Given the description of an element on the screen output the (x, y) to click on. 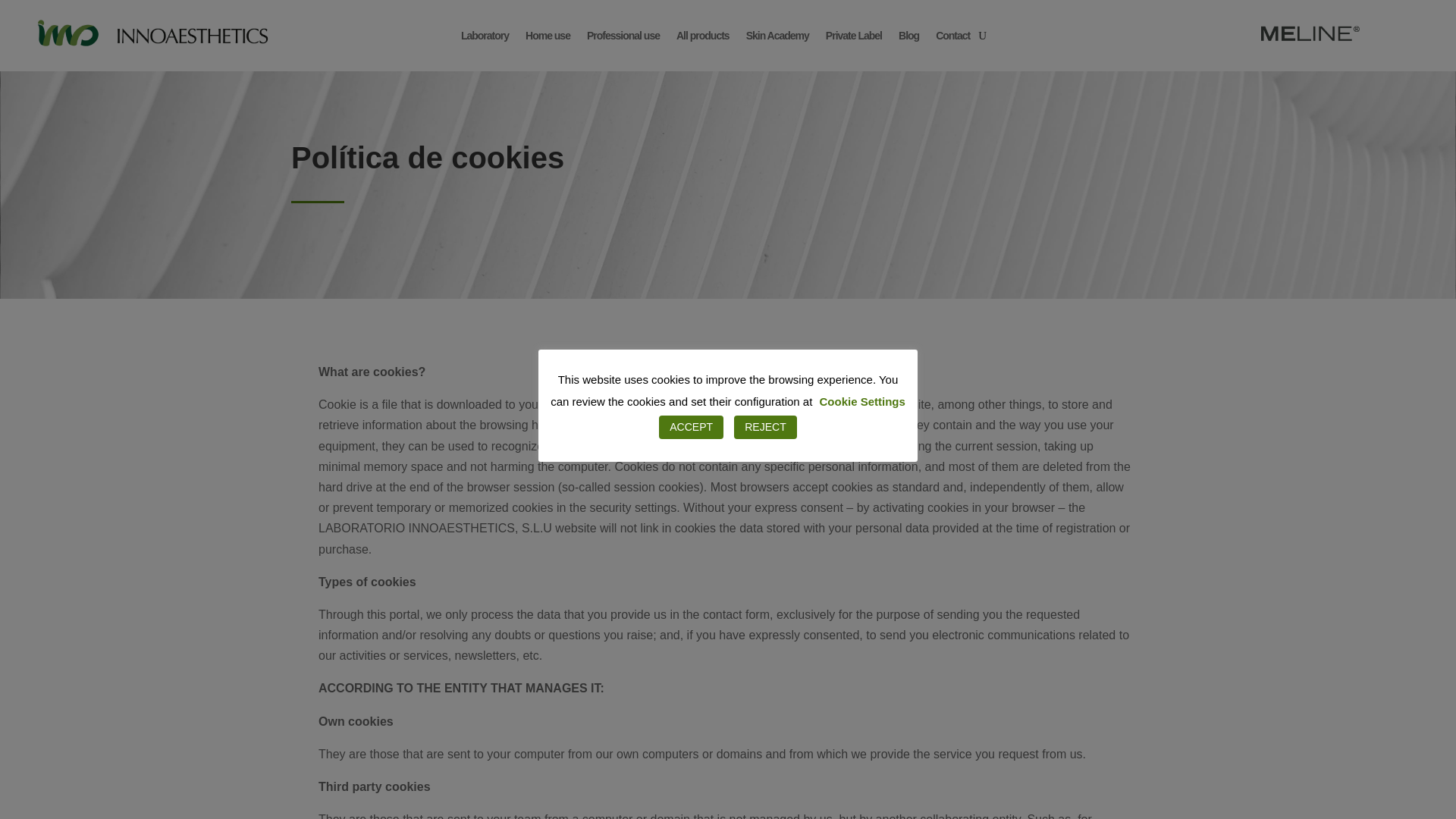
INNO-LOGO-NAVBAR-min (145, 32)
Professional use (622, 35)
Skin Academy (777, 35)
All products (703, 35)
Private Label (853, 35)
